Given the description of an element on the screen output the (x, y) to click on. 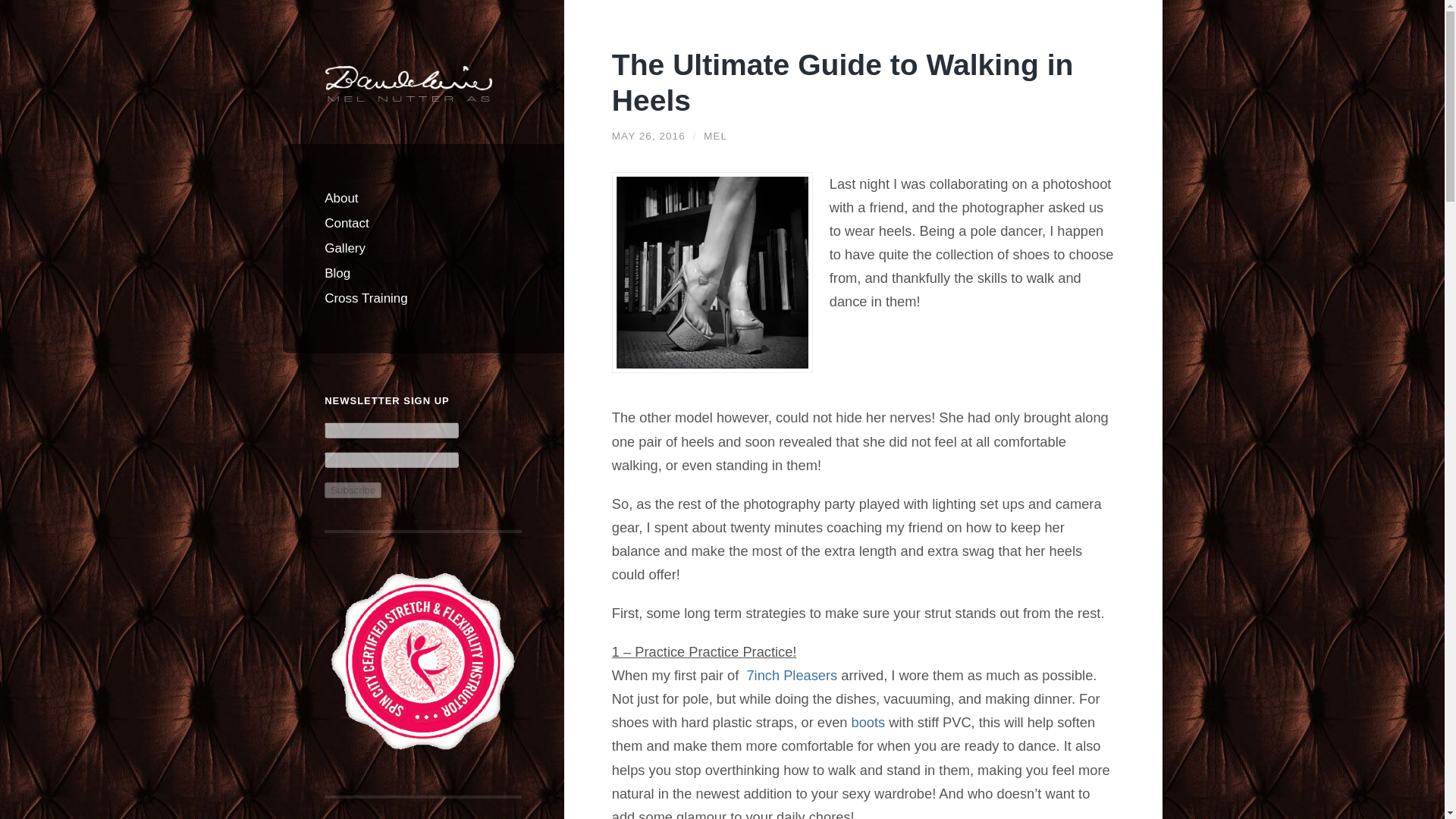
Blog (422, 273)
About (422, 197)
MEL (714, 135)
The Ultimate Guide to Walking in Heels (648, 135)
MAY 26, 2016 (648, 135)
The Ultimate Guide to Walking in Heels (842, 82)
boots (870, 722)
7inch Pleasers (793, 675)
Gallery (422, 248)
Subscribe (352, 489)
Cross Training (422, 298)
Subscribe (352, 489)
Contact (422, 222)
The Ultimate Guide to Walking in Heels (842, 82)
Posts by mel (714, 135)
